Given the description of an element on the screen output the (x, y) to click on. 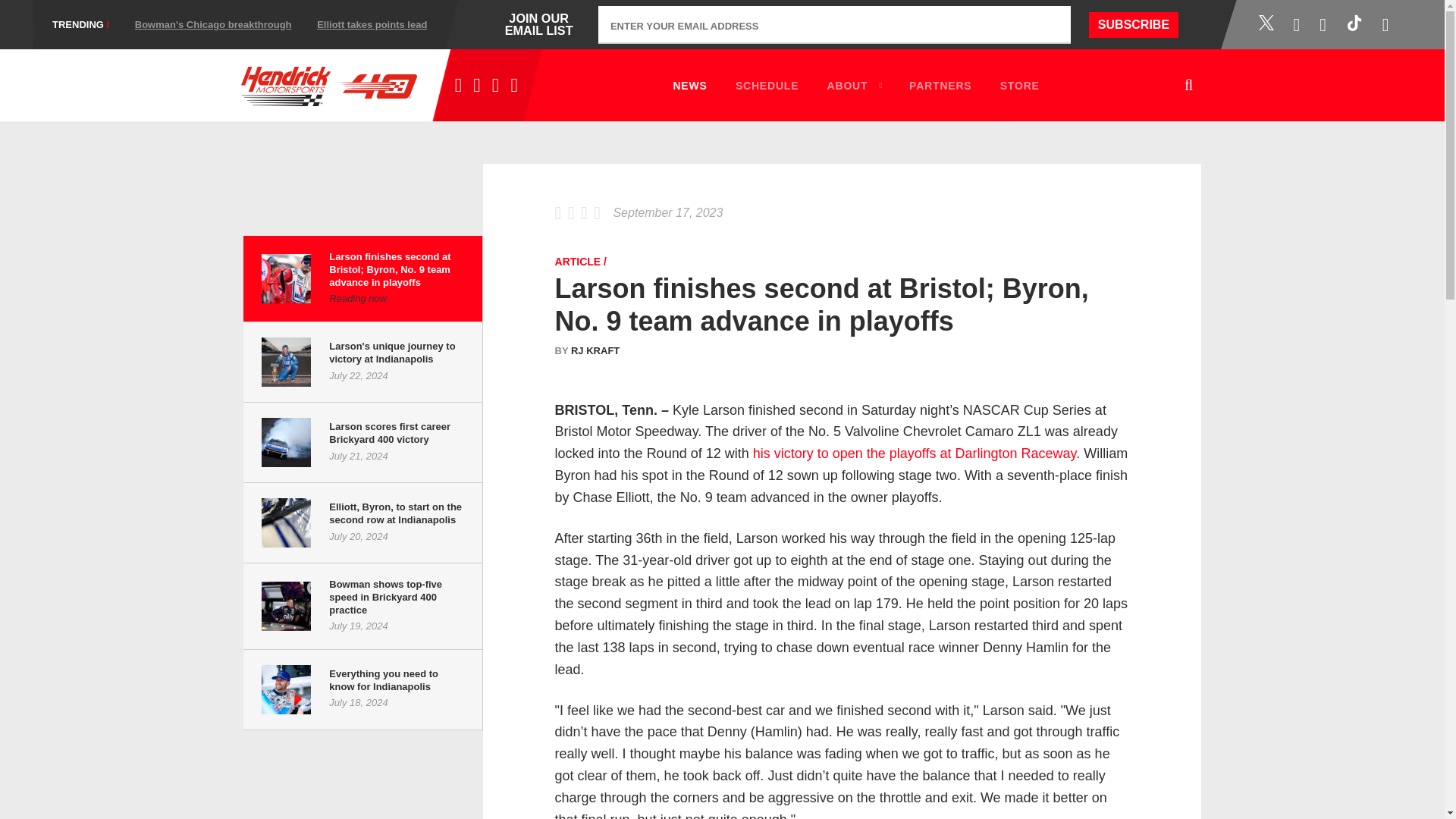
Twitter (539, 28)
Elliott takes points lead (1266, 23)
FAQ (371, 24)
TRENDING (601, 7)
ABOUT (80, 24)
SUBSCRIBE (854, 85)
SCHEDULE (1133, 24)
Visit (766, 85)
PARTNERS (360, 7)
Bowman's Chicago breakthrough (940, 85)
